Given the description of an element on the screen output the (x, y) to click on. 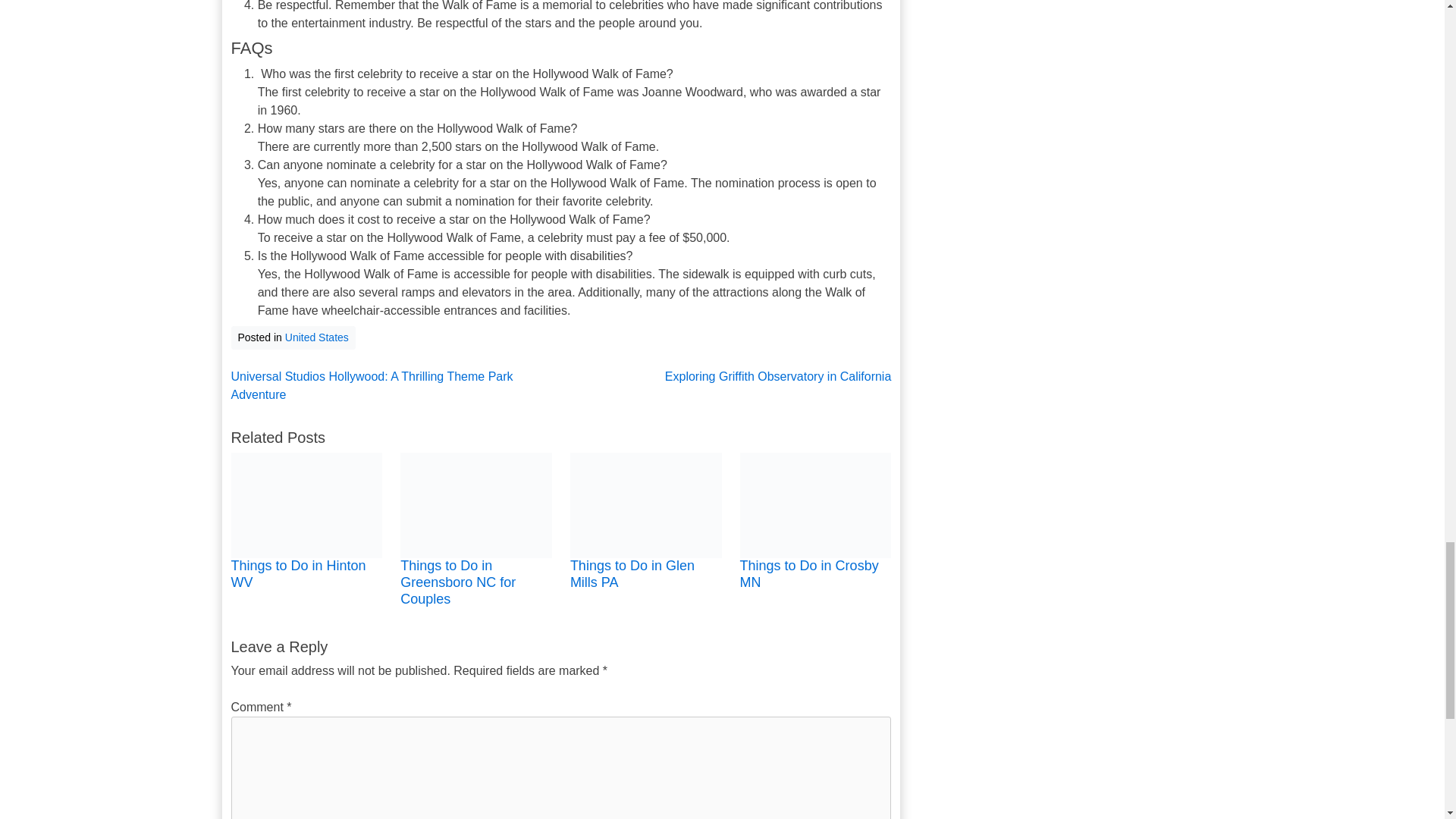
Things to Do in Hinton WV (297, 573)
Things to Do in Greensboro NC for Couples (457, 581)
Exploring Griffith Observatory in California (725, 376)
Things to Do in Crosby MN (809, 573)
Things to Do in Glen Mills PA (632, 573)
United States (317, 337)
